Given the description of an element on the screen output the (x, y) to click on. 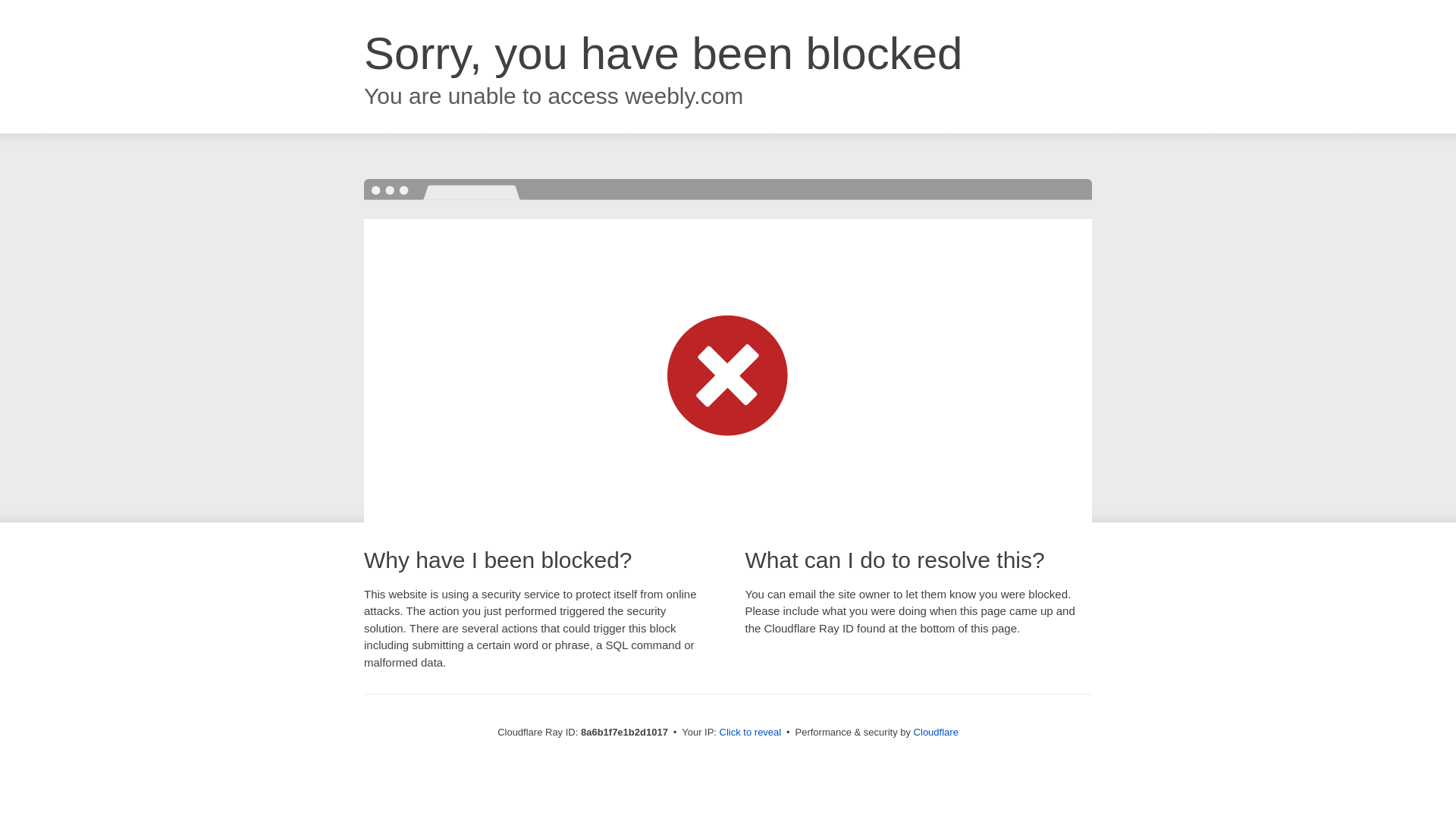
Cloudflare (936, 731)
Click to reveal (750, 732)
